Given the description of an element on the screen output the (x, y) to click on. 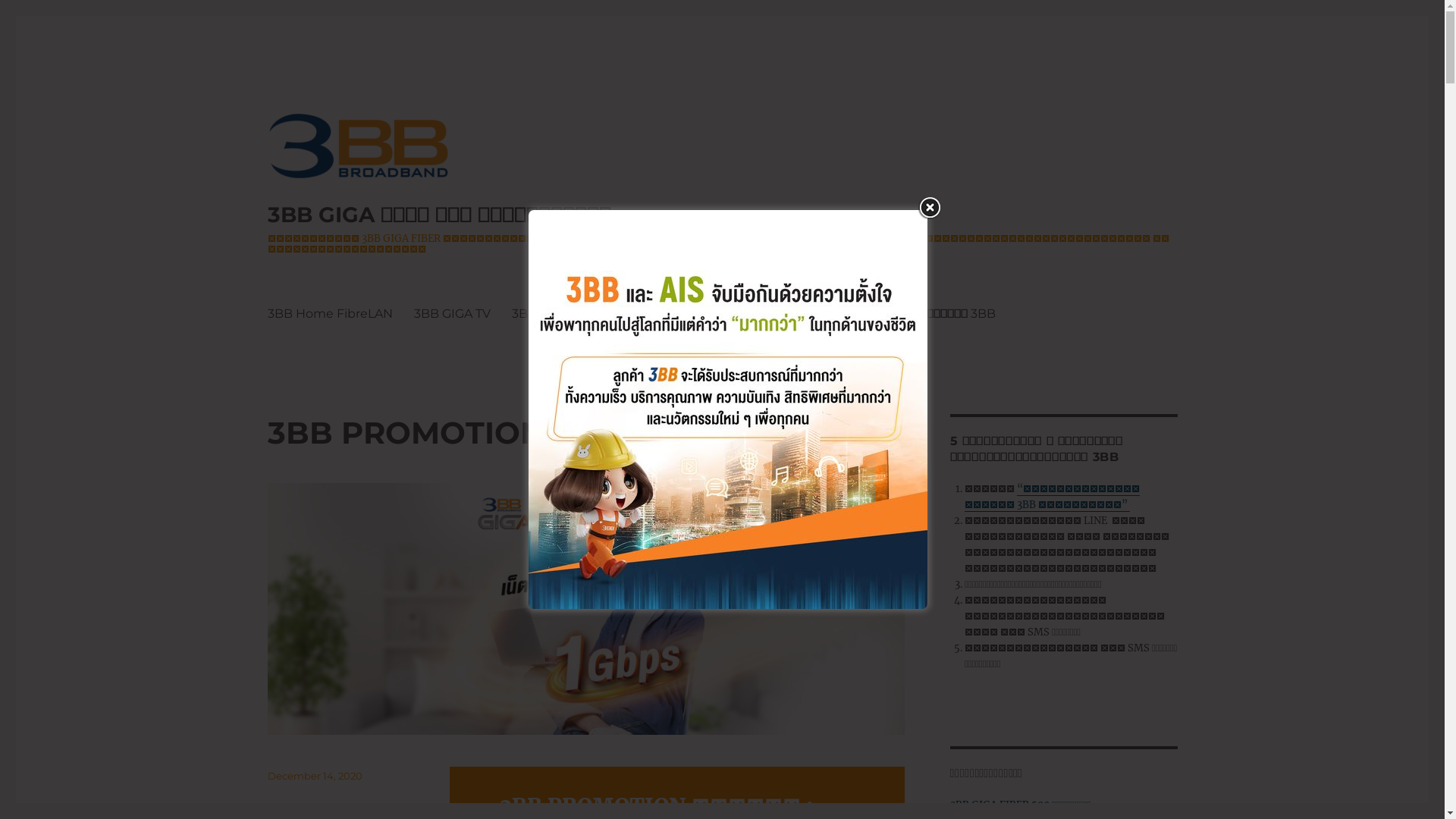
3BB PROMOTION Element type: text (404, 432)
3BB GIGA FIBER Element type: text (633, 313)
3BB GIGA TV Element type: text (452, 313)
December 14, 2020 Element type: text (313, 775)
3BBxAIS Element type: text (536, 313)
3BB Home FibreLAN Element type: text (329, 313)
3BB PROMOTION Element type: text (758, 313)
